Given the description of an element on the screen output the (x, y) to click on. 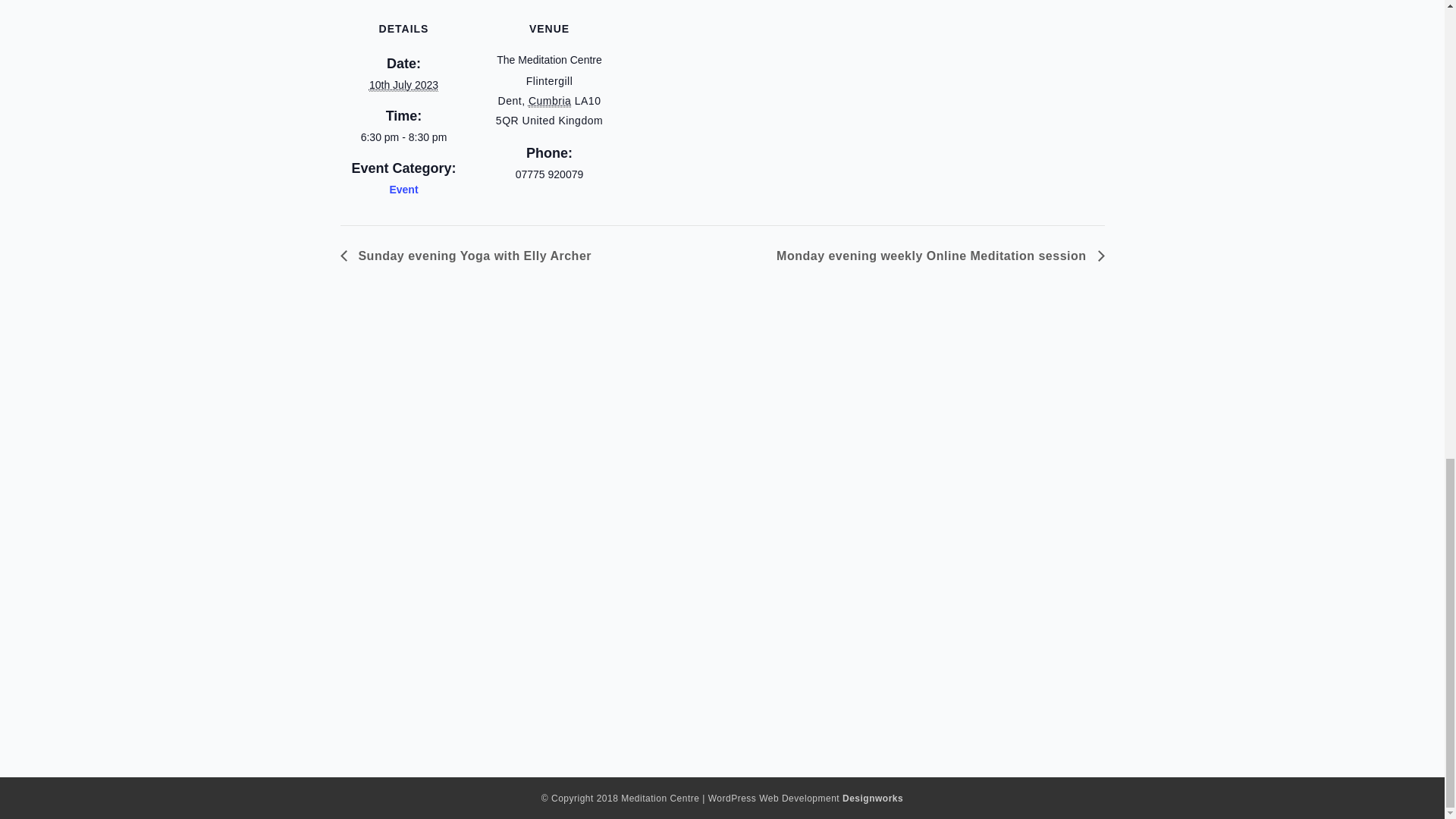
Event (402, 189)
2023-07-10 (403, 137)
2023-07-10 (403, 84)
